Given the description of an element on the screen output the (x, y) to click on. 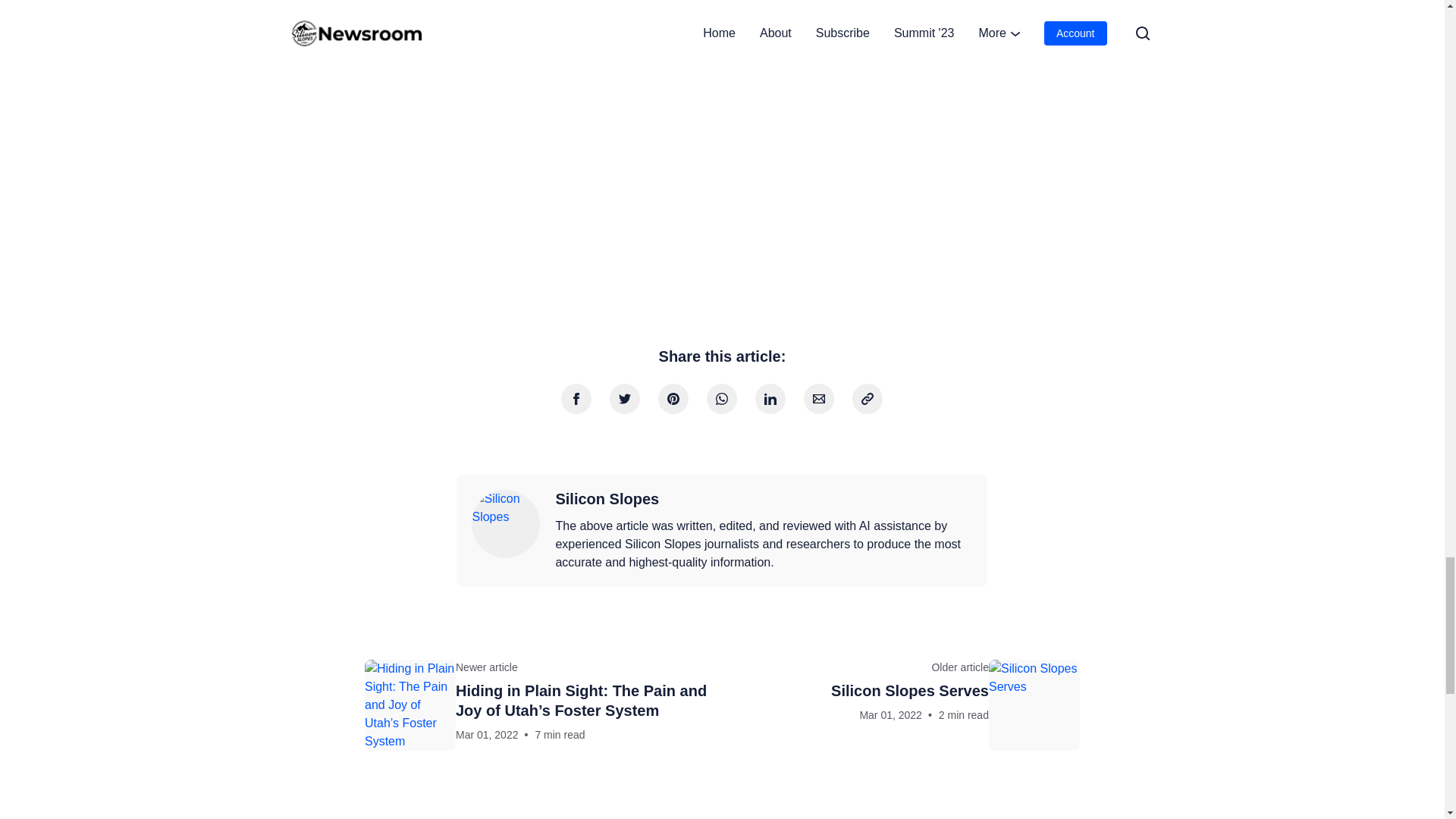
Silicon Slopes (606, 499)
Send via email (818, 399)
Silicon Slopes (505, 523)
Share on Pinterest (673, 399)
Share on Whatsapp (905, 705)
Copy the permalink (721, 399)
Share on Linkedin (866, 399)
Share on Facebook (770, 399)
Share on Twitter (575, 399)
